Given the description of an element on the screen output the (x, y) to click on. 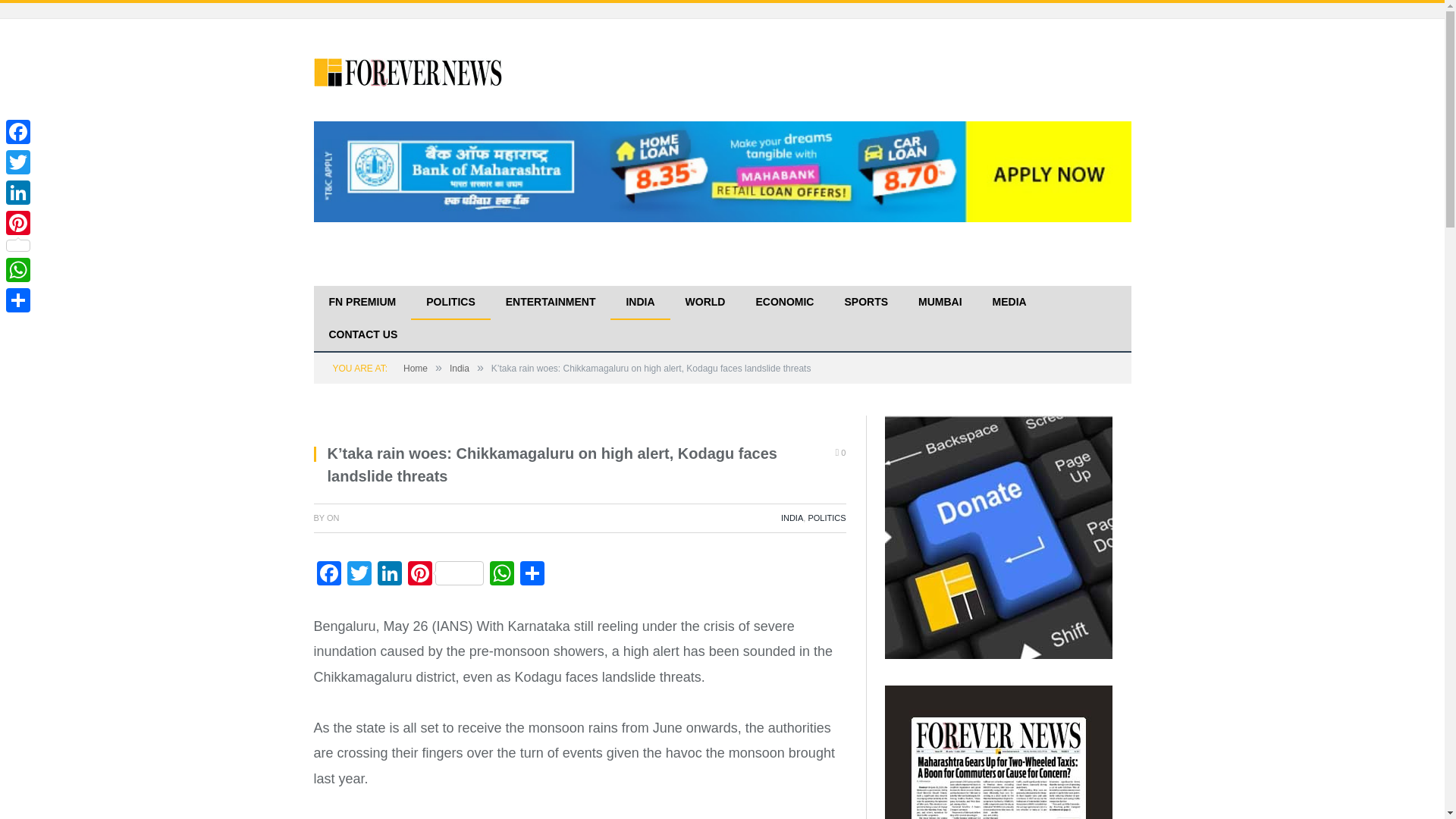
Twitter (358, 574)
SPORTS (865, 302)
Facebook (328, 574)
ENTERTAINMENT (550, 302)
POLITICS (450, 302)
WORLD (705, 302)
LinkedIn (389, 574)
ECONOMIC (783, 302)
Forever NEWS (408, 69)
POLITICS (826, 517)
